Given the description of an element on the screen output the (x, y) to click on. 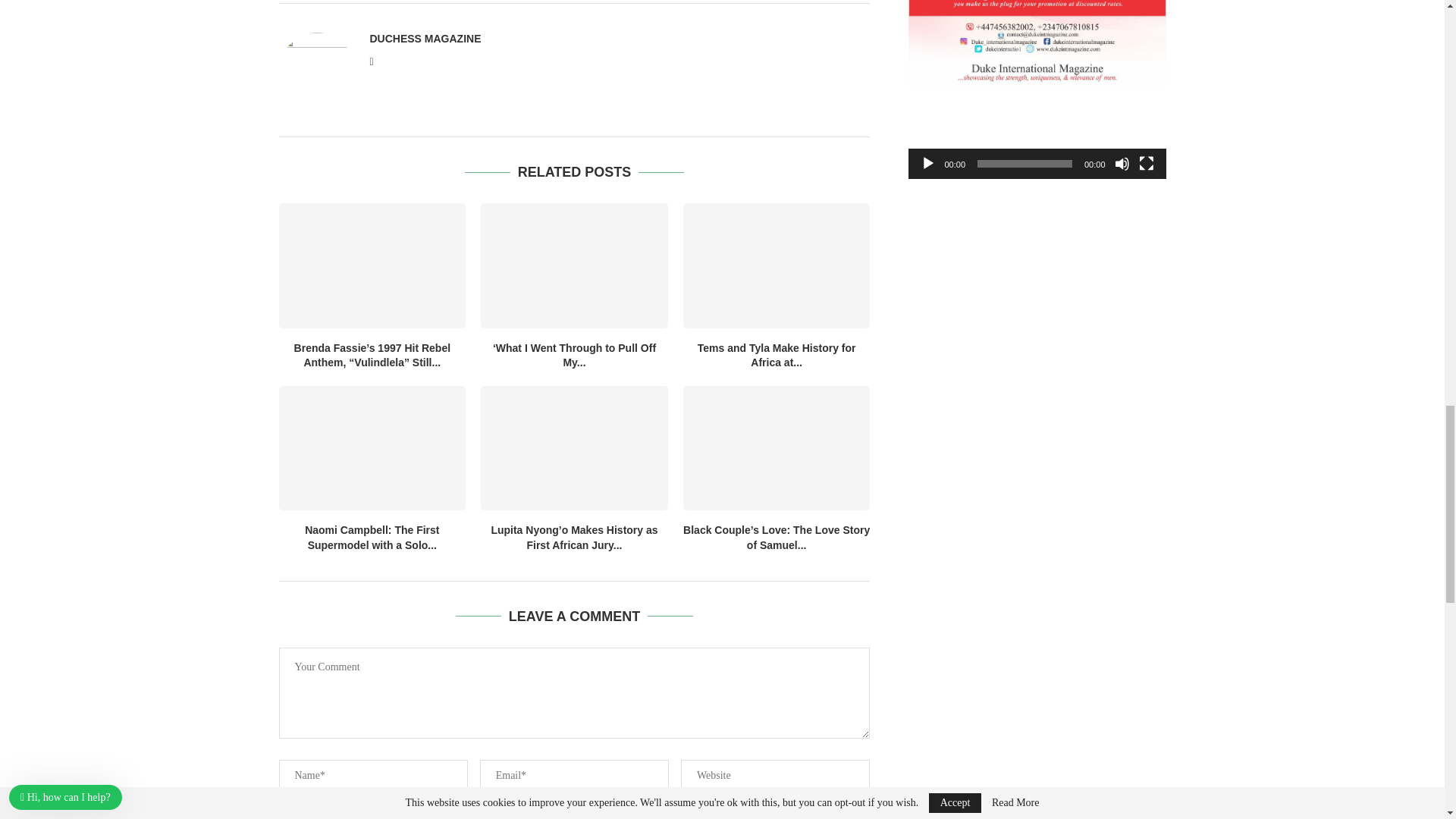
yes (283, 816)
